Given the description of an element on the screen output the (x, y) to click on. 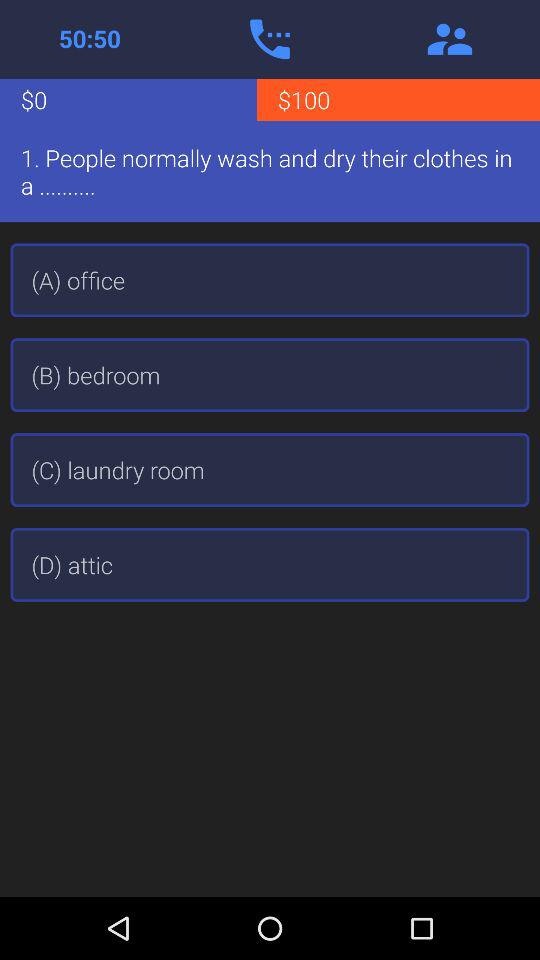
press the app above the (b) bedroom (269, 280)
